Given the description of an element on the screen output the (x, y) to click on. 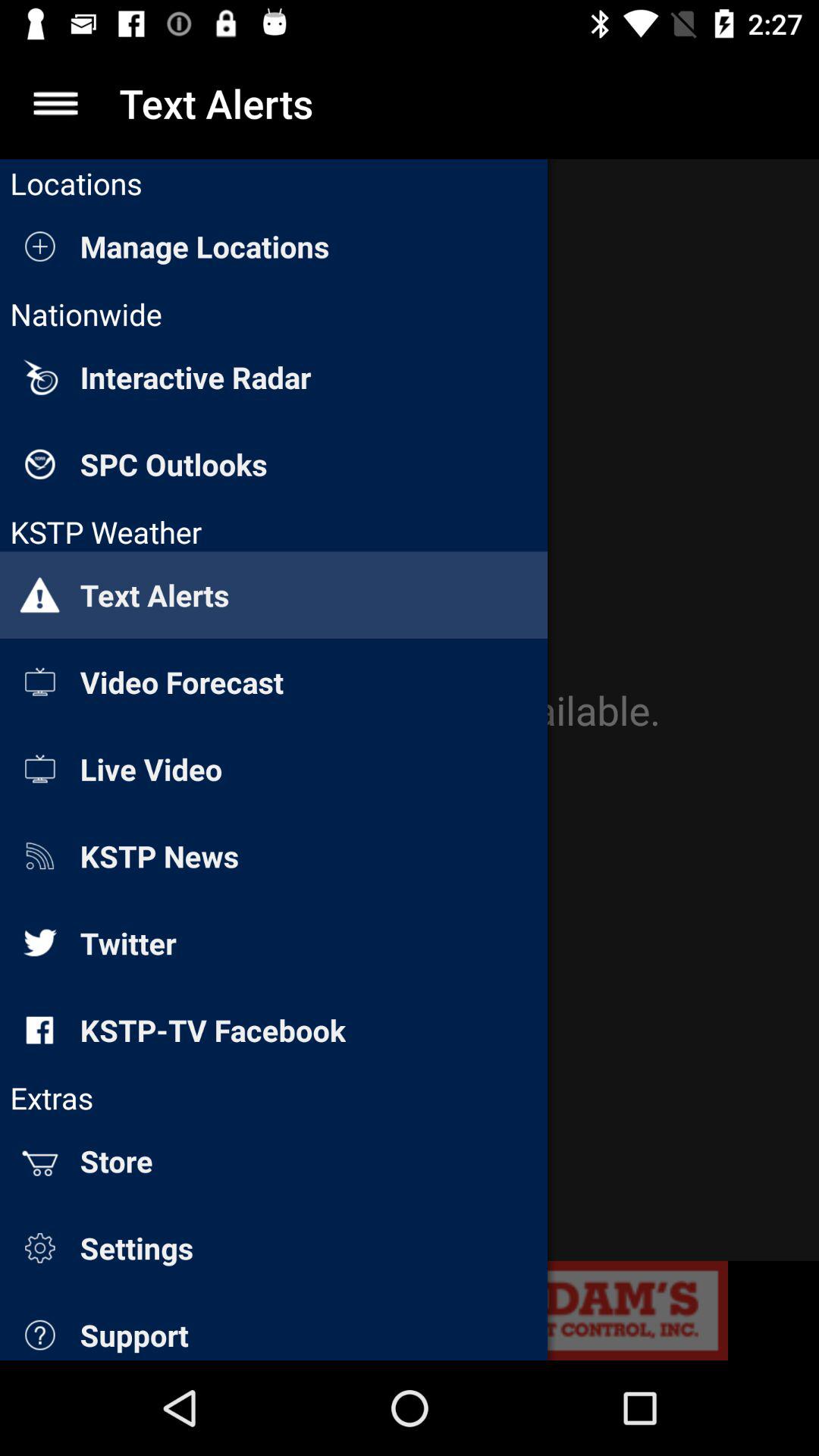
open menu (55, 103)
